Given the description of an element on the screen output the (x, y) to click on. 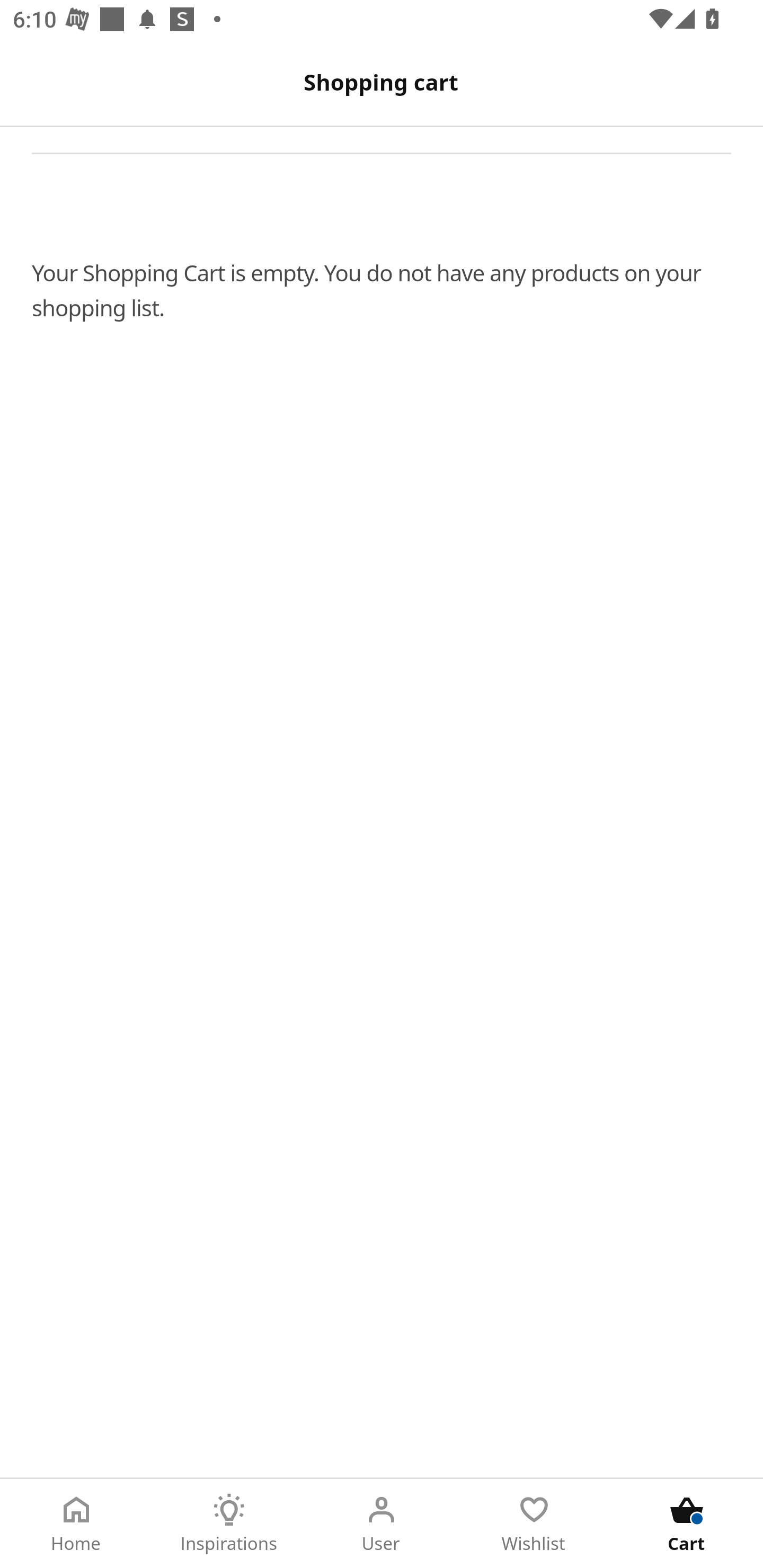
Home
Tab 1 of 5 (76, 1522)
Inspirations
Tab 2 of 5 (228, 1522)
User
Tab 3 of 5 (381, 1522)
Wishlist
Tab 4 of 5 (533, 1522)
Cart
Tab 5 of 5 (686, 1522)
